Given the description of an element on the screen output the (x, y) to click on. 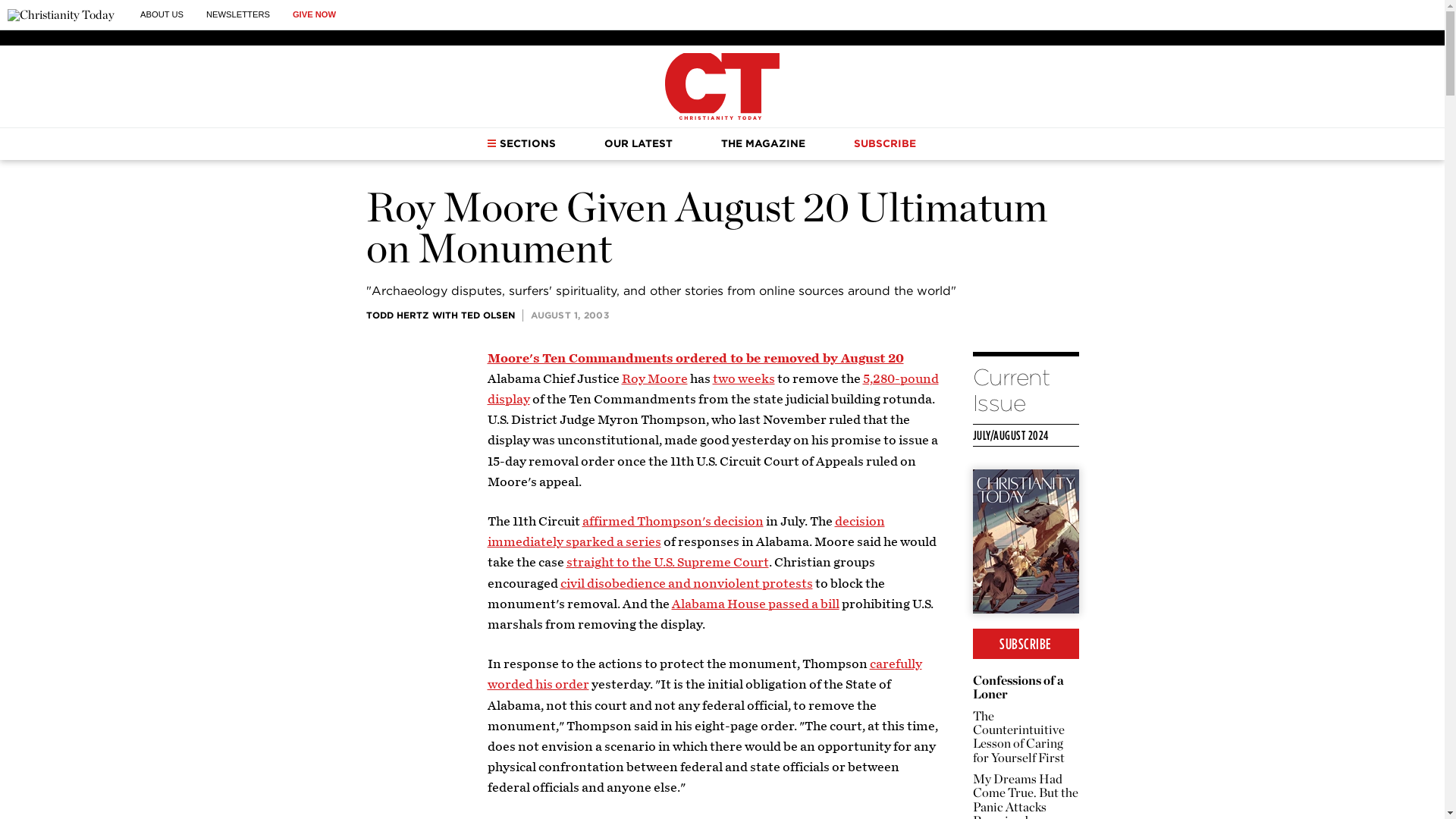
Christianity Today (61, 15)
ABOUT US (161, 14)
SECTIONS (521, 143)
Sections Dropdown (491, 143)
Christianity Today (721, 86)
GIVE NOW (314, 14)
NEWSLETTERS (238, 14)
